Given the description of an element on the screen output the (x, y) to click on. 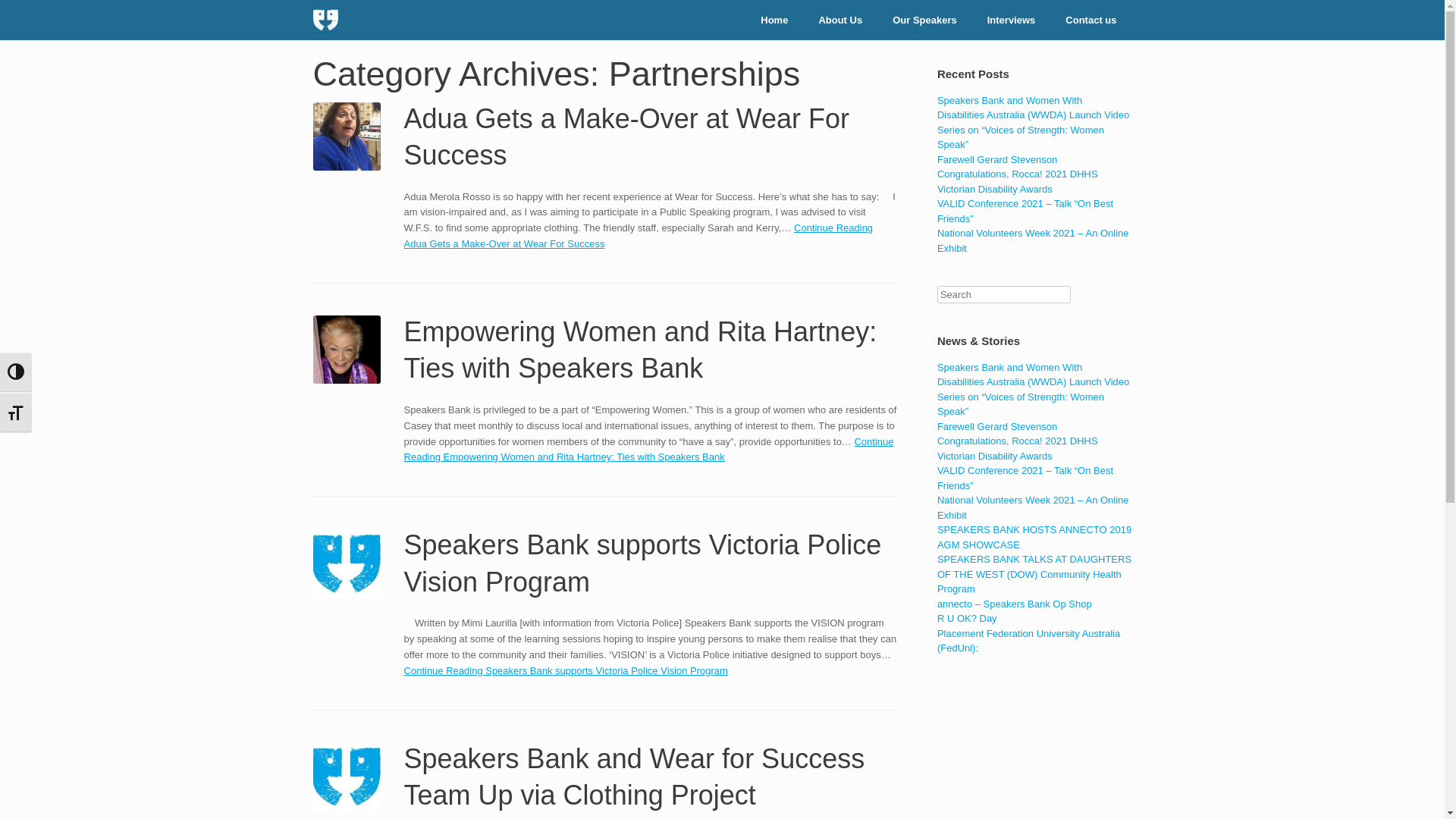
Continue Reading Adua Gets a Make-Over at Wear For Success Element type: text (638, 235)
Toggle Font size Element type: text (15, 412)
Farewell Gerard Stevenson Element type: text (997, 158)
Speakers Bank supports Victoria Police Vision Program Element type: text (642, 563)
Contact us Element type: text (1090, 20)
About Us Element type: text (840, 20)
Empowering Women and Rita Hartney: Ties with Speakers Bank Element type: text (640, 350)
Home Element type: text (774, 20)
Interviews Element type: text (1011, 20)
SPEAKERS BANK HOSTS ANNECTO 2019 AGM SHOWCASE Element type: text (1034, 537)
Our Speakers Element type: text (924, 20)
R U OK? Day Element type: text (967, 618)
Placement Federation University Australia (FedUni): Element type: text (1028, 640)
Toggle High Contrast Element type: text (15, 371)
Farewell Gerard Stevenson Element type: text (997, 425)
Adua Gets a Make-Over at Wear For Success Element type: text (627, 137)
